Given the description of an element on the screen output the (x, y) to click on. 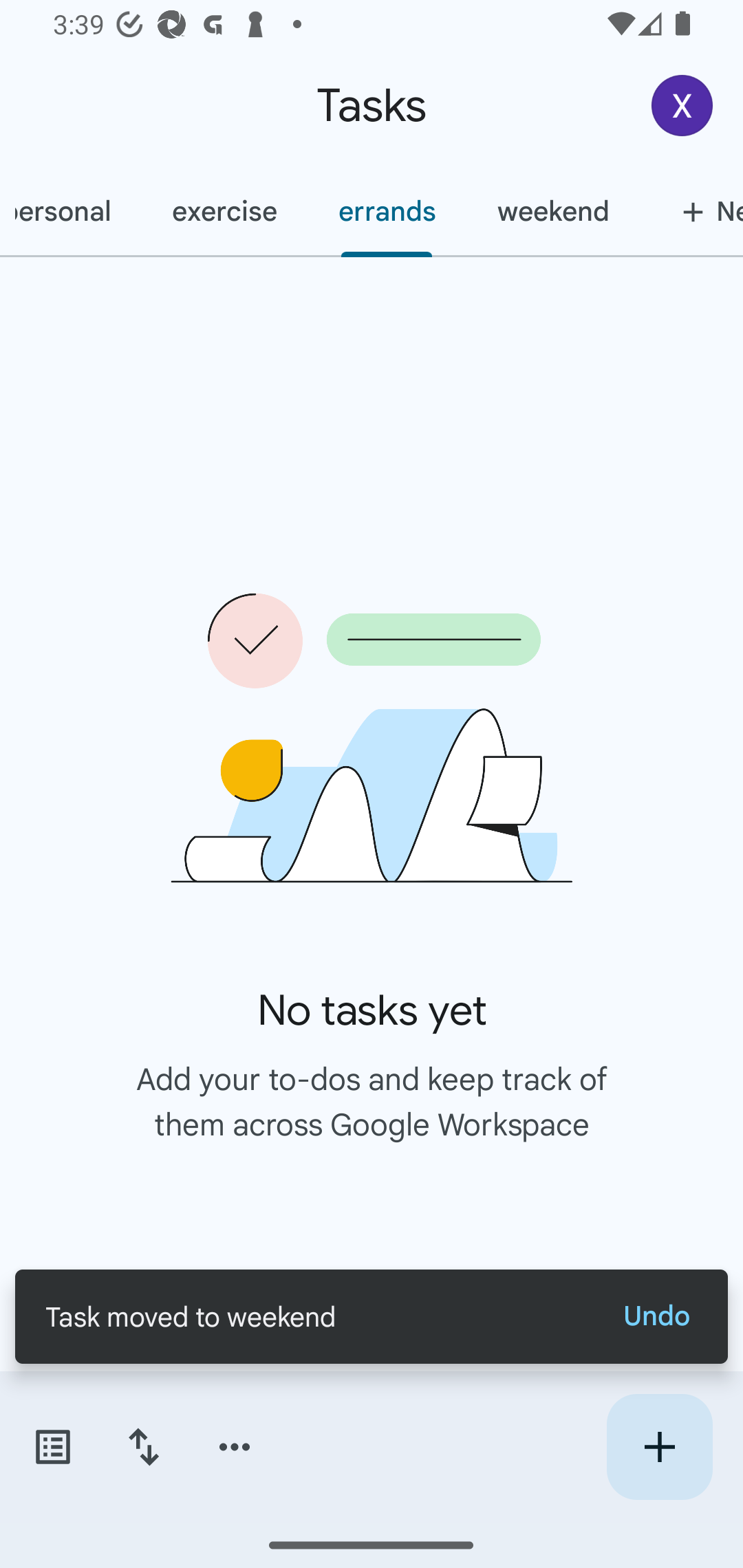
personal (70, 211)
exercise (224, 211)
weekend (552, 211)
New list (691, 211)
Undo (656, 1316)
Switch task lists (52, 1447)
Create new task (659, 1446)
Change sort order (143, 1446)
More options (234, 1446)
